Given the description of an element on the screen output the (x, y) to click on. 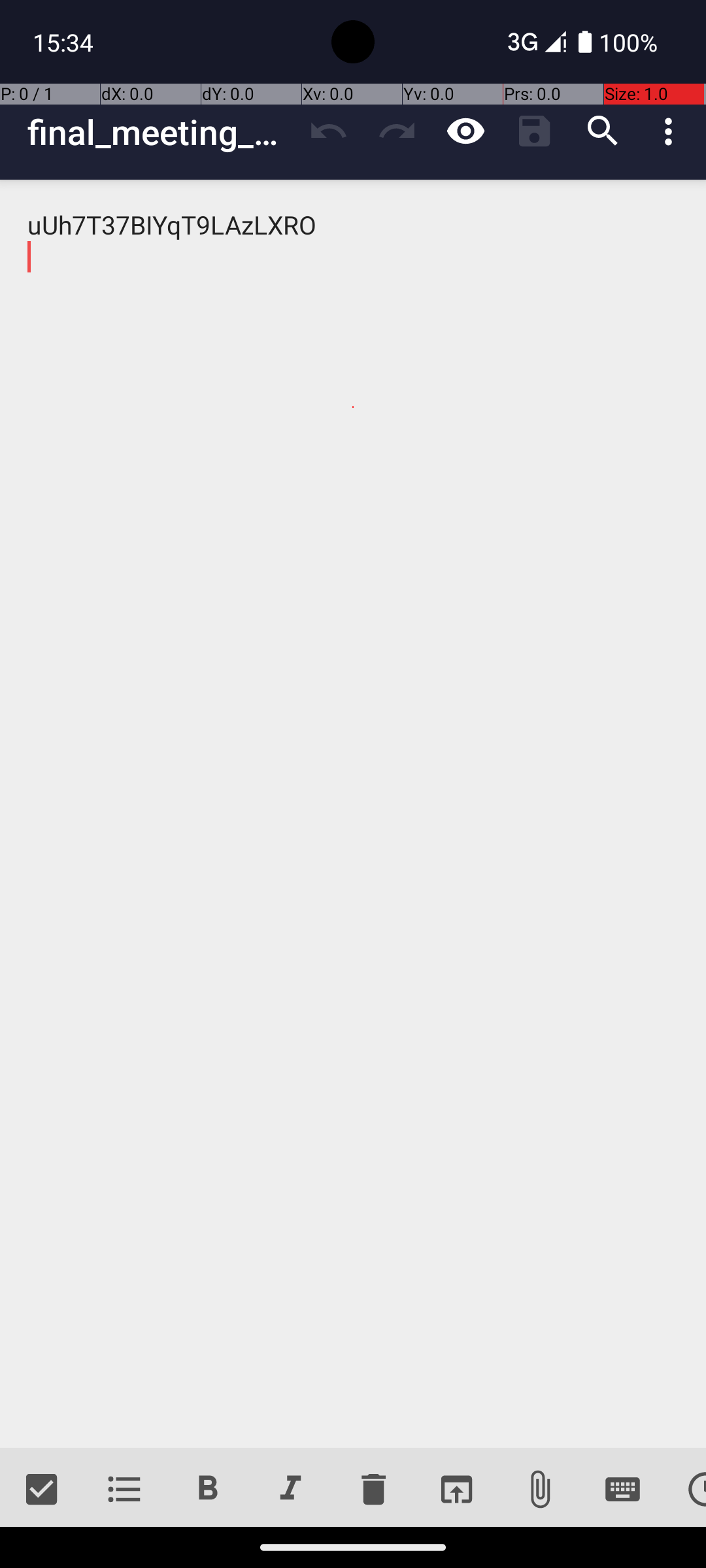
final_meeting_notes_project_team Element type: android.widget.TextView (160, 131)
uUh7T37BIYqT9LAzLXRO
 Element type: android.widget.EditText (353, 813)
